Given the description of an element on the screen output the (x, y) to click on. 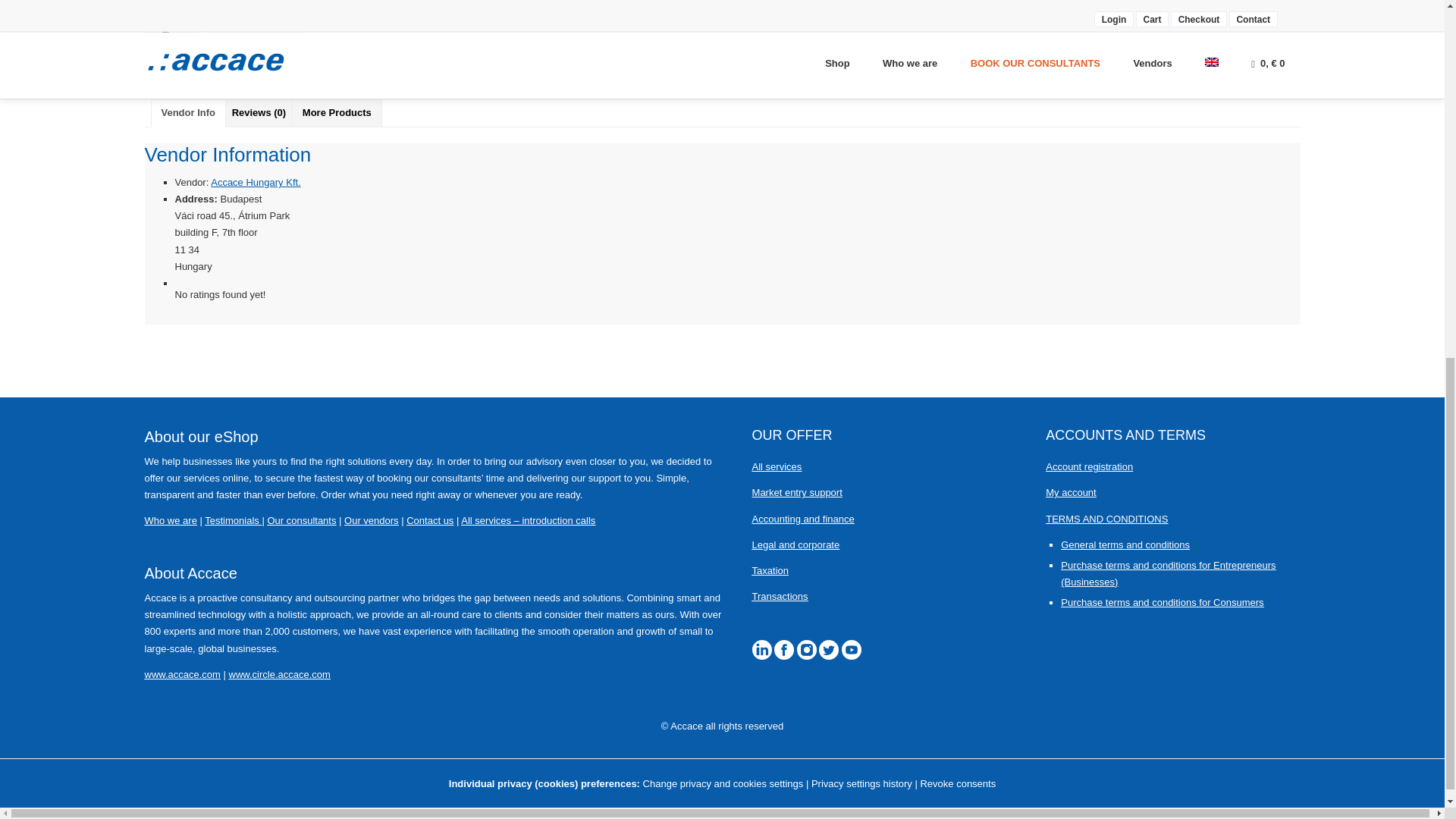
1 (170, 26)
Accace Hungary Kft. (256, 182)
Add to cart (254, 27)
More Products (336, 112)
Vendor Info (188, 112)
